Given the description of an element on the screen output the (x, y) to click on. 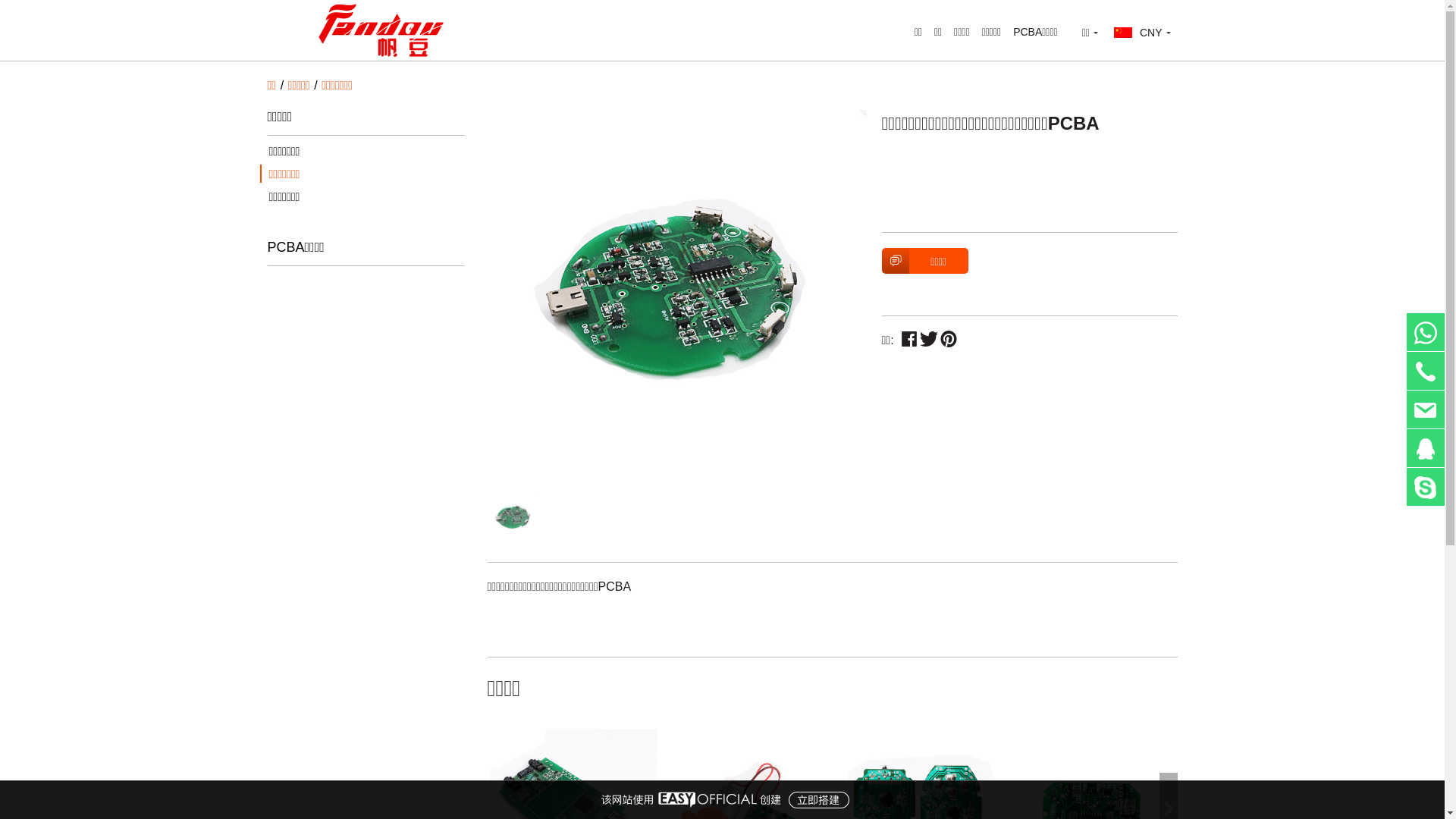
CNY Element type: text (1141, 32)
